Given the description of an element on the screen output the (x, y) to click on. 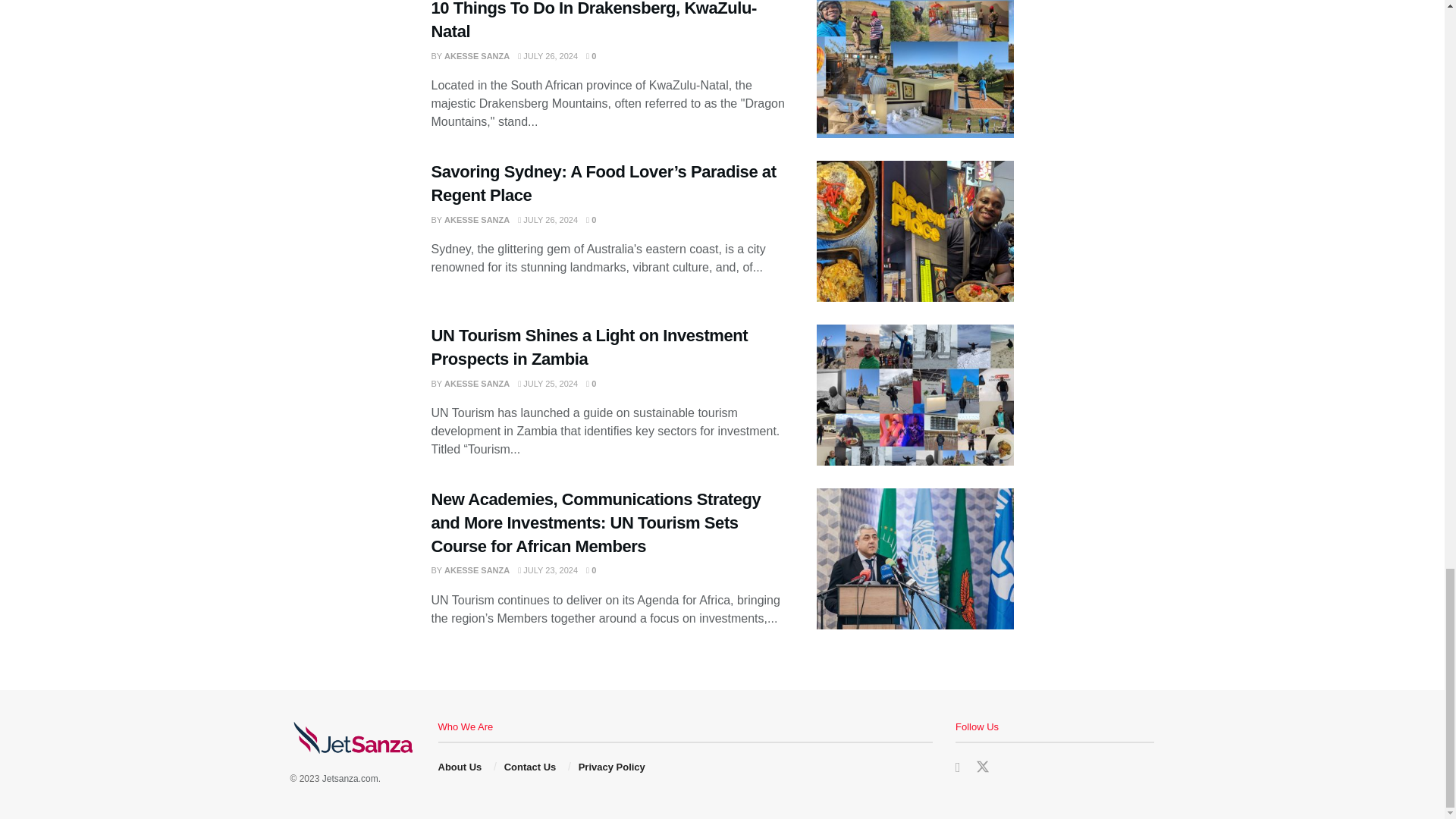
Travel Blog of Akesse Sanza (349, 778)
